Given the description of an element on the screen output the (x, y) to click on. 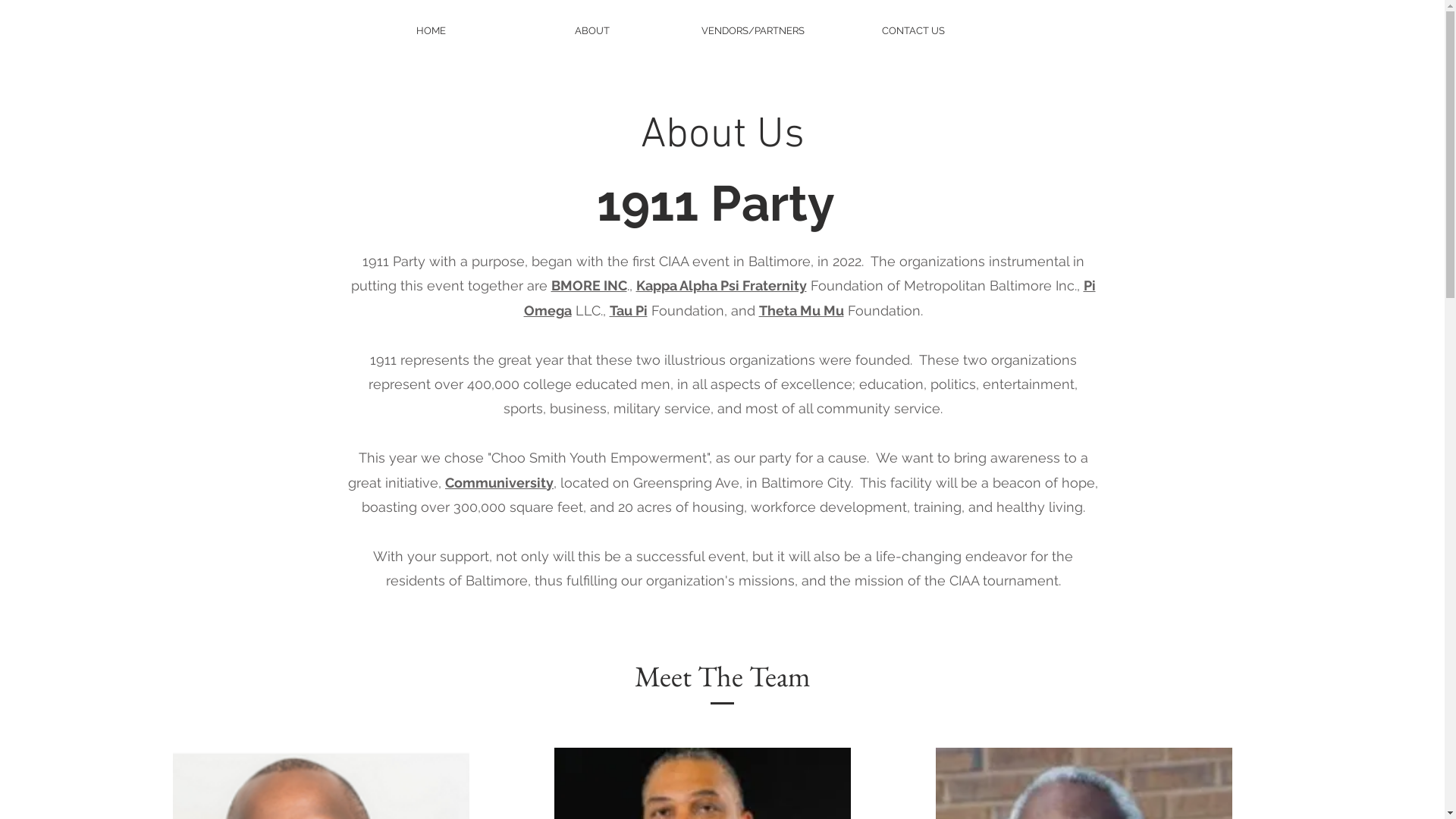
VENDORS/PARTNERS Element type: text (752, 30)
Communiversity Element type: text (499, 482)
HOME Element type: text (431, 30)
Tau Pi Element type: text (628, 310)
ABOUT Element type: text (591, 30)
Theta Mu Mu Element type: text (800, 310)
BMORE INC Element type: text (588, 285)
CONTACT US Element type: text (913, 30)
Pi Omega Element type: text (809, 297)
Kappa Alpha Psi Fraternity Element type: text (720, 285)
